Given the description of an element on the screen output the (x, y) to click on. 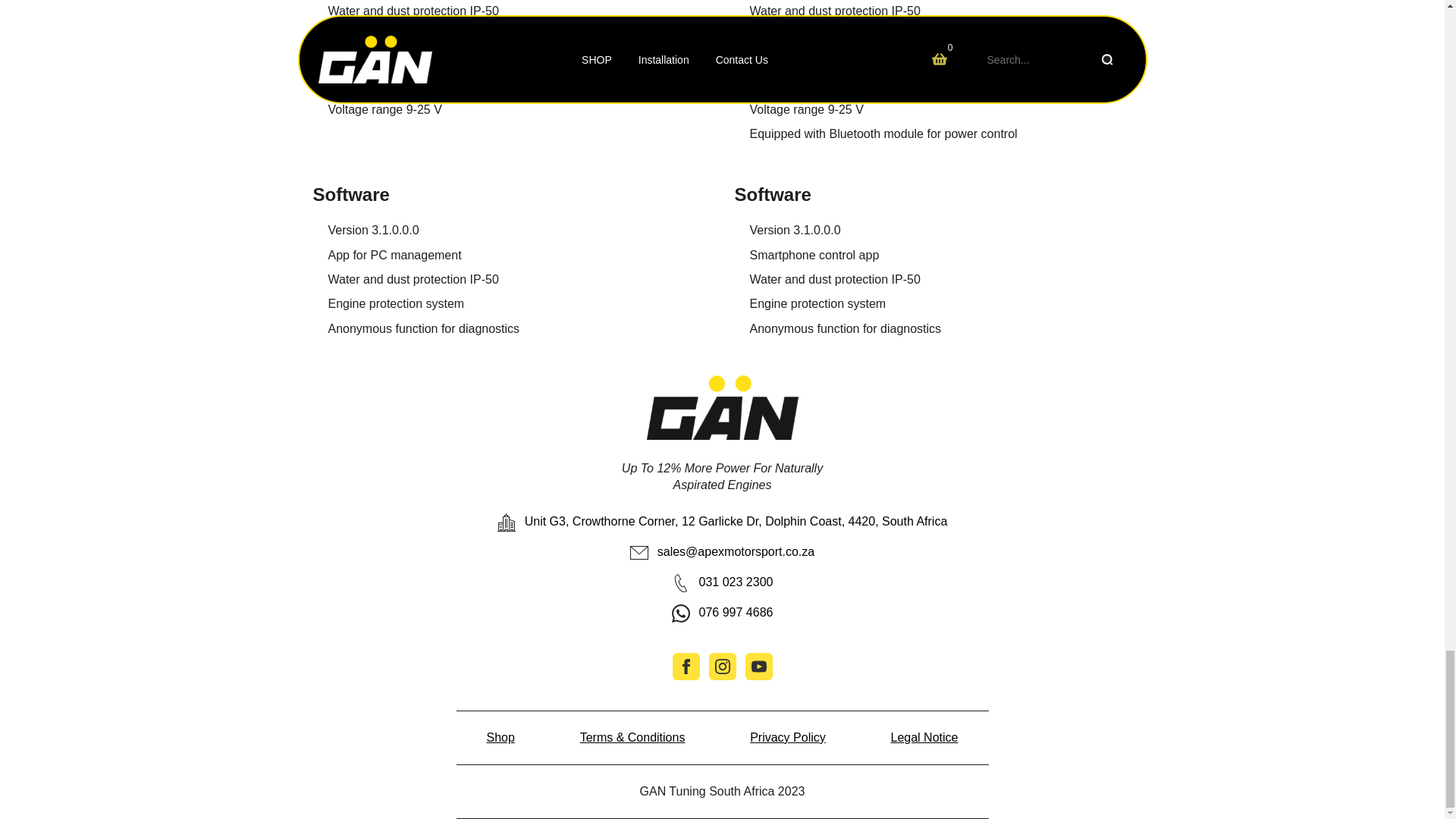
031 023 2300 (722, 583)
Legal Notice (924, 737)
Privacy Policy (787, 737)
076 997 4686 (722, 613)
Shop (500, 737)
